Given the description of an element on the screen output the (x, y) to click on. 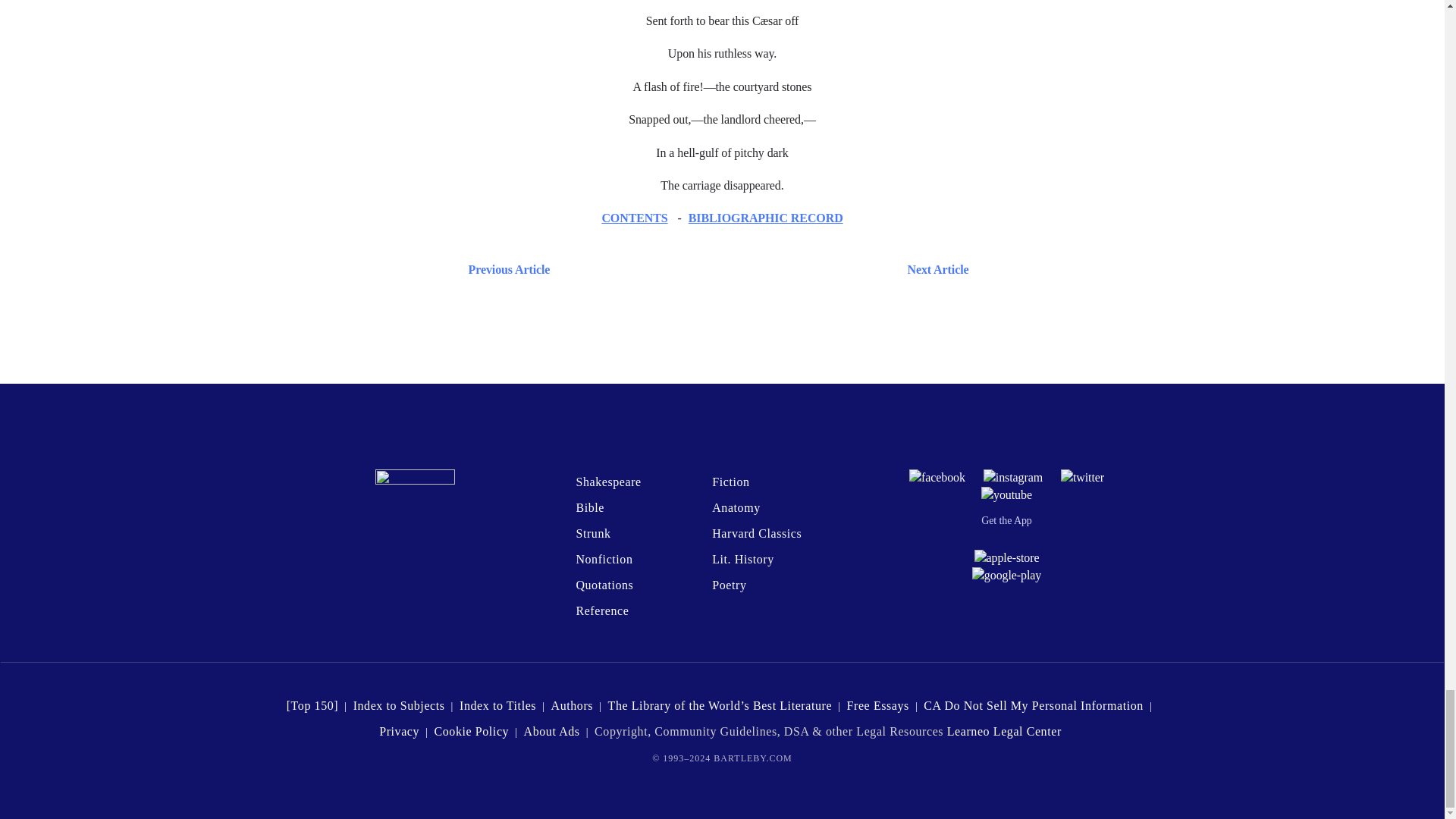
Next Article (766, 269)
Previous Article (505, 269)
Anatomy (735, 507)
Bible (589, 507)
Fiction (730, 481)
Strunk (592, 533)
Poetry (728, 584)
Nonfiction (603, 558)
Lit. History (742, 558)
BIBLIOGRAPHIC RECORD (765, 217)
